Given the description of an element on the screen output the (x, y) to click on. 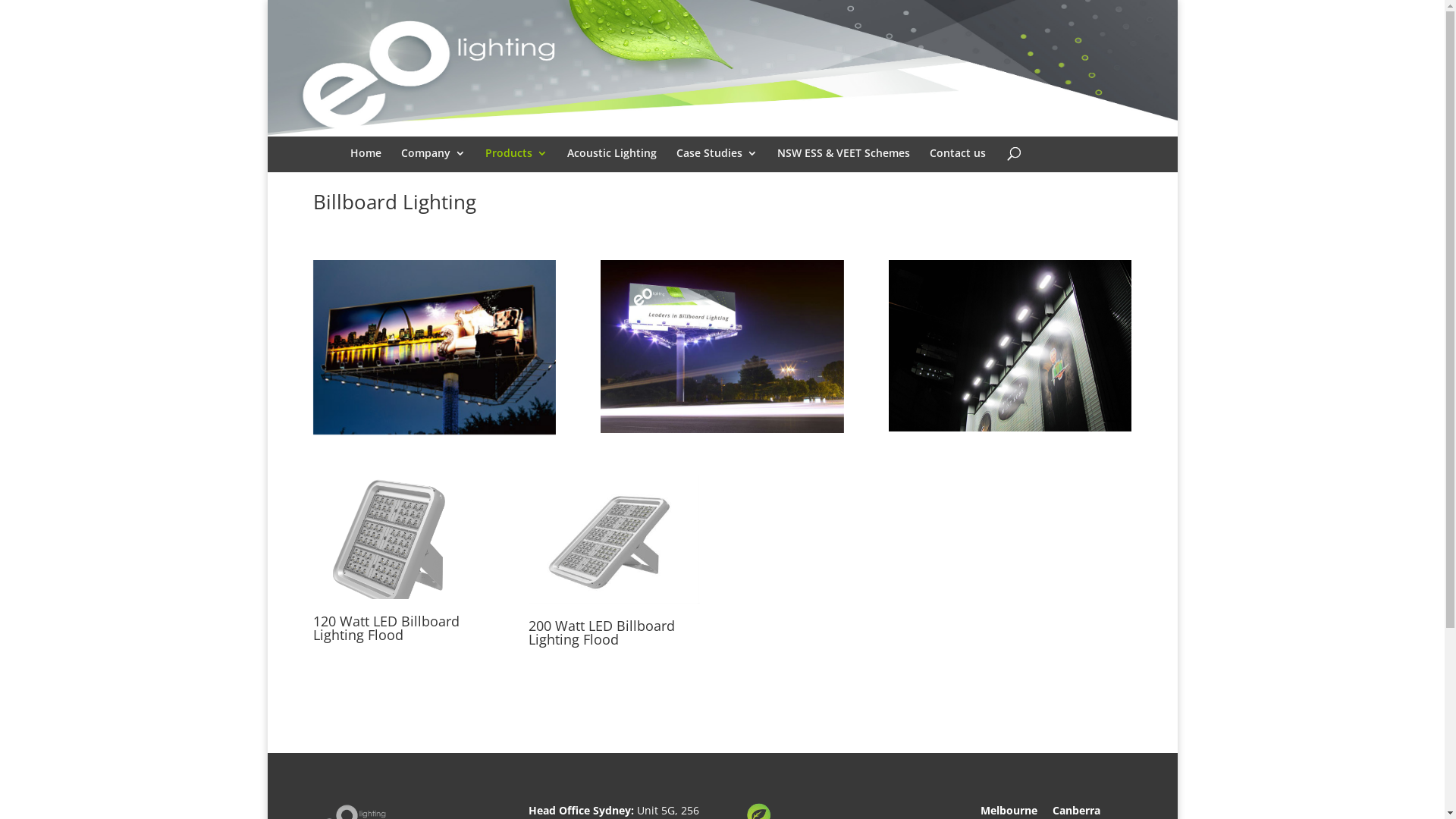
200 Watt LED Billboard Lighting Flood Element type: hover (613, 539)
Acoustic Lighting Element type: text (611, 163)
NSW ESS & VEET Schemes Element type: text (842, 163)
200 Watt LED Billboard Lighting Flood Element type: text (601, 632)
120 Watt LED Billboard Lighting Flood Element type: text (385, 627)
Company Element type: text (432, 163)
Products Element type: text (516, 163)
Case Studies Element type: text (716, 163)
Home Element type: text (365, 163)
Contact us Element type: text (957, 163)
120 Watt LED Billboard Lighting Flood Element type: hover (397, 537)
